Given the description of an element on the screen output the (x, y) to click on. 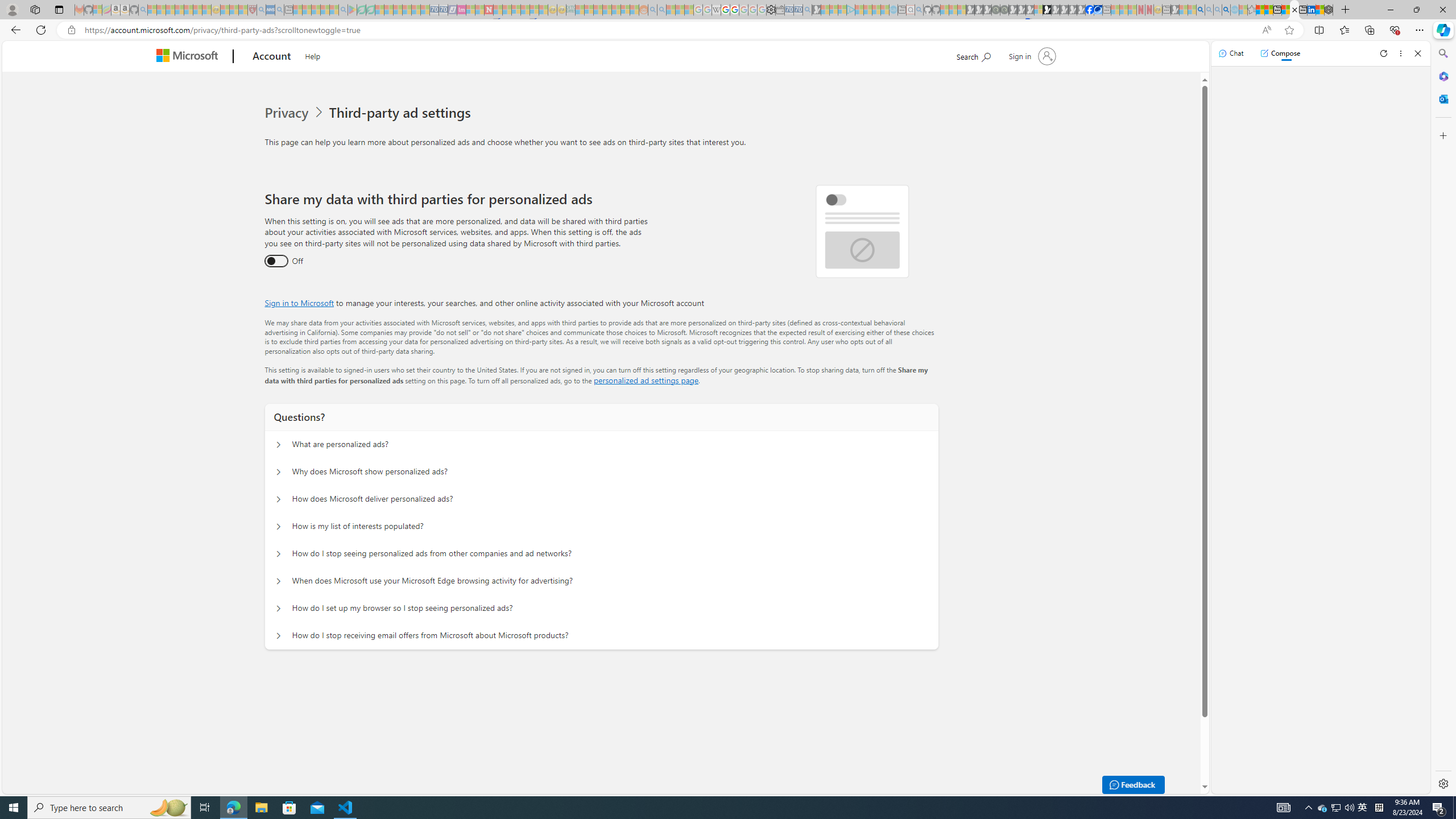
utah sues federal government - Search - Sleeping (279, 9)
Search Microsoft.com (972, 54)
